Given the description of an element on the screen output the (x, y) to click on. 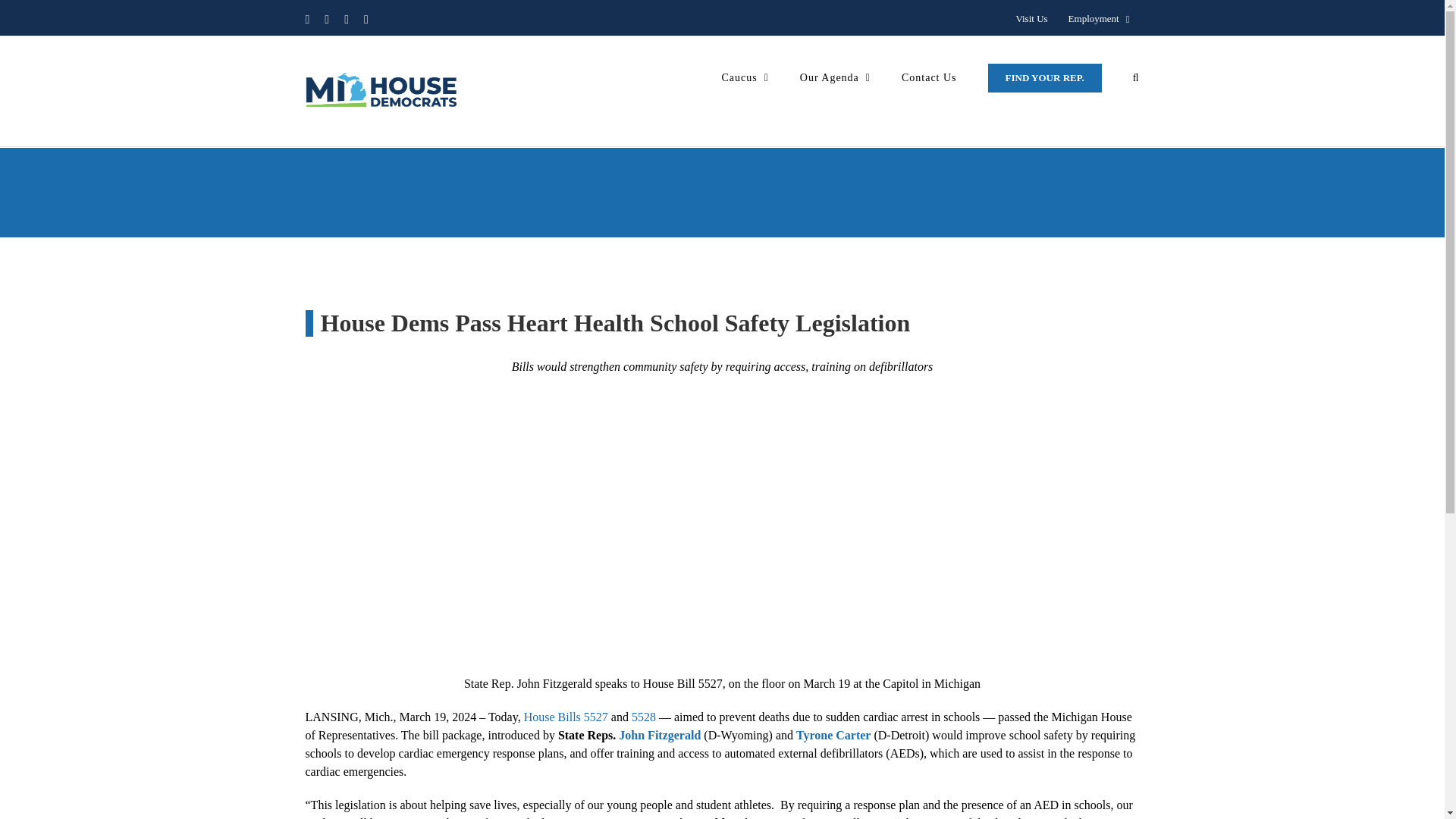
Visit Us (1031, 19)
Our Agenda (834, 78)
FIND YOUR REP. (1045, 78)
Employment (1099, 19)
